Given the description of an element on the screen output the (x, y) to click on. 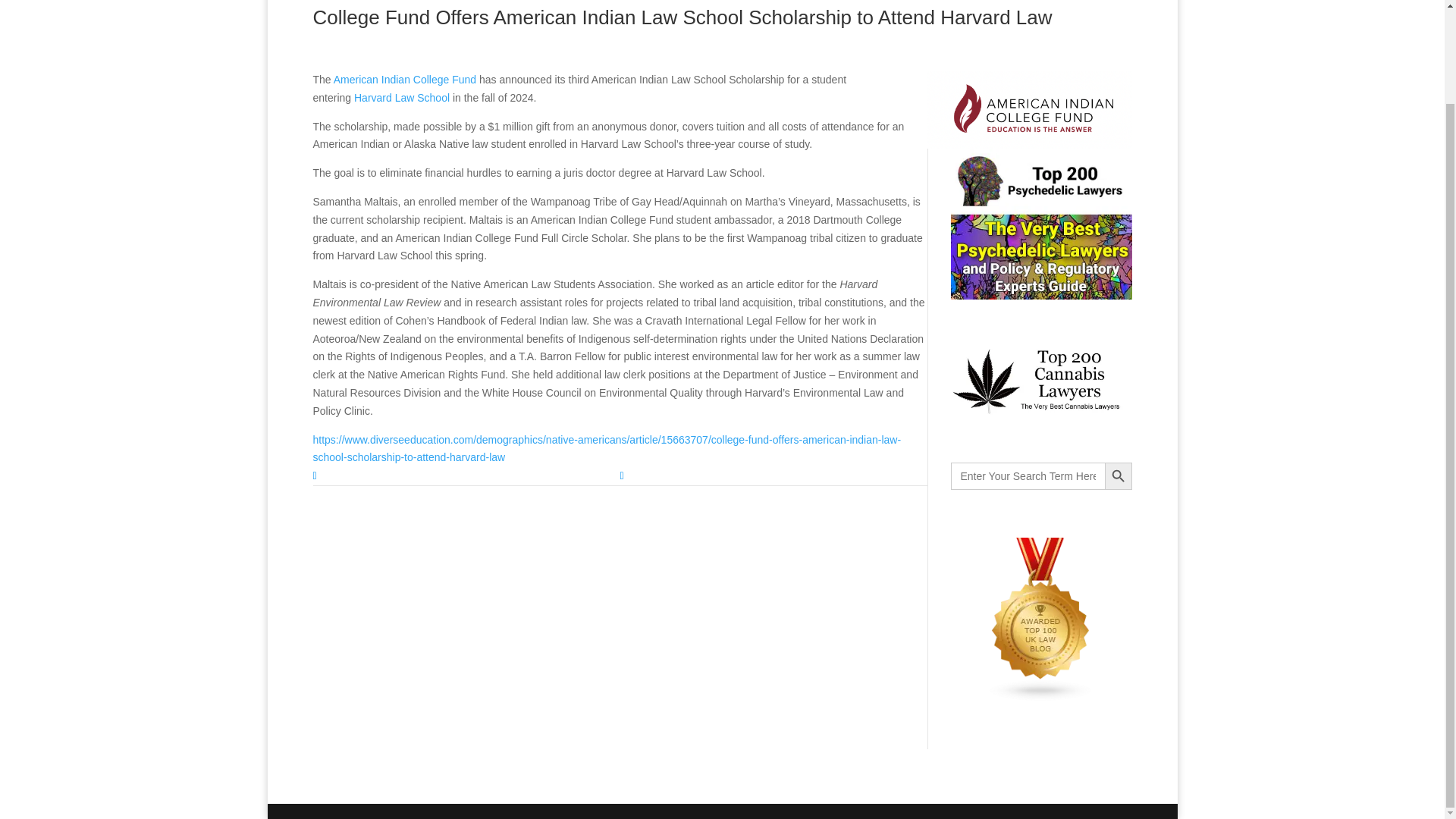
Share On Linkedin (466, 475)
Screenshot 2024-02-11 at 3.58.43 pm (1028, 109)
American Indian College Fund (404, 79)
Harvard Law School (401, 97)
Search Button (1117, 475)
Share Via Email (773, 475)
